Given the description of an element on the screen output the (x, y) to click on. 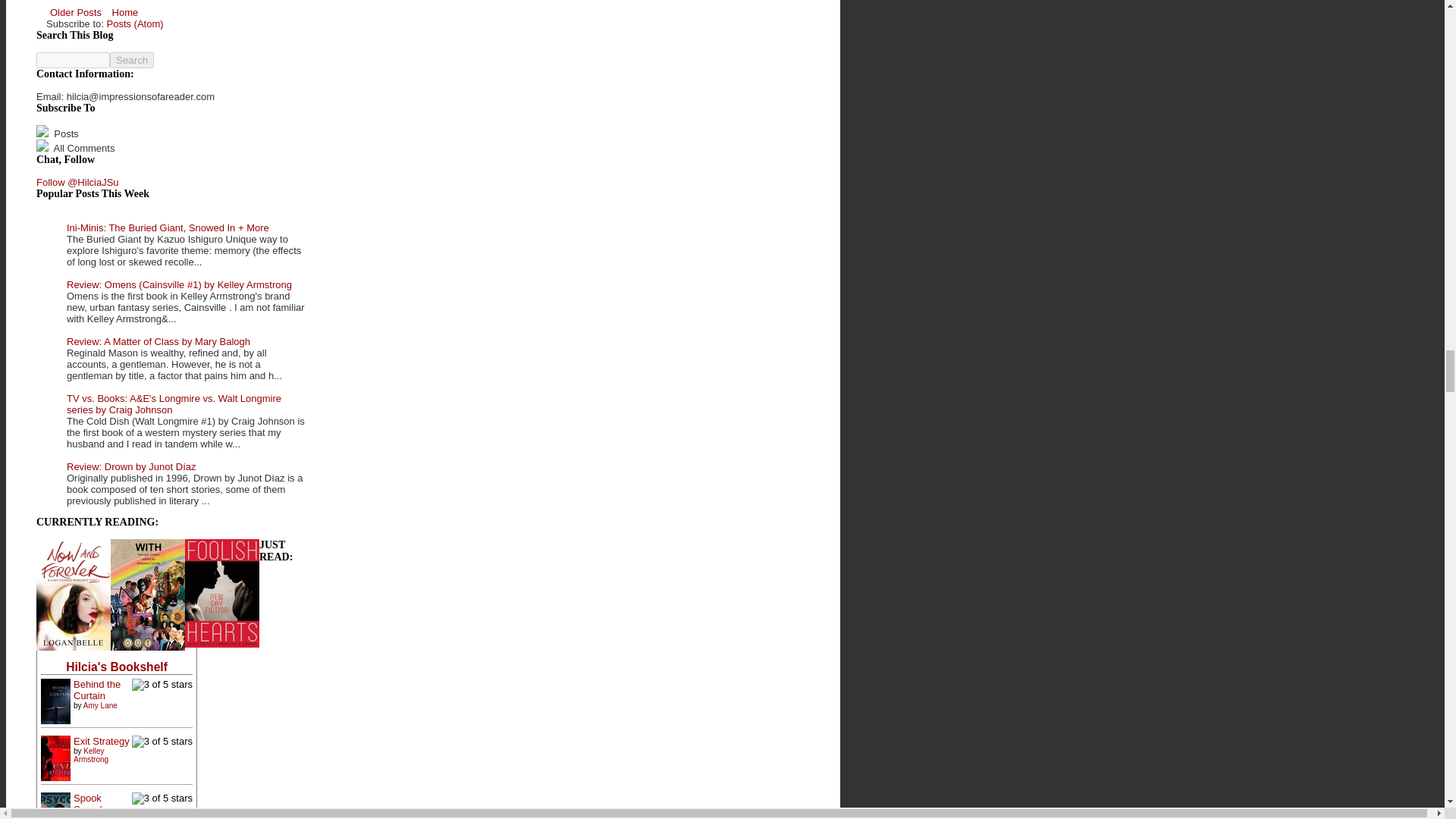
Search (132, 59)
Search (132, 59)
